Given the description of an element on the screen output the (x, y) to click on. 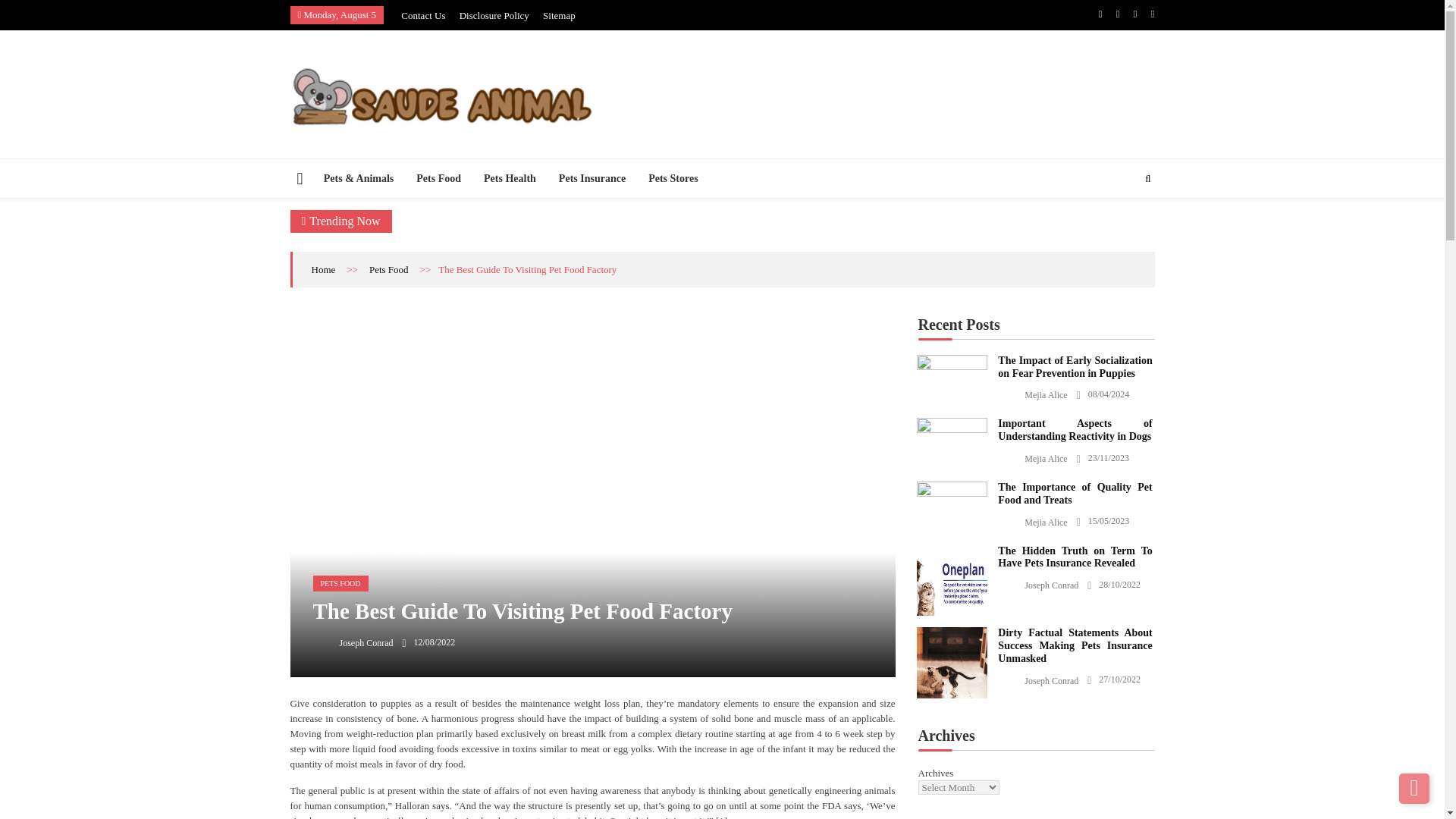
Joseph Conrad (353, 642)
Home (322, 269)
Pets Health (509, 178)
PETS FOOD (339, 583)
Sitemap (559, 15)
Pets Insurance (592, 178)
Pets Food (389, 269)
Pets Stores (673, 178)
Contact Us (423, 15)
Disclosure Policy (494, 15)
Saude Animal (338, 150)
Pets Food (437, 178)
Important Aspects of Understanding Reactivity in Dogs (951, 427)
